Given the description of an element on the screen output the (x, y) to click on. 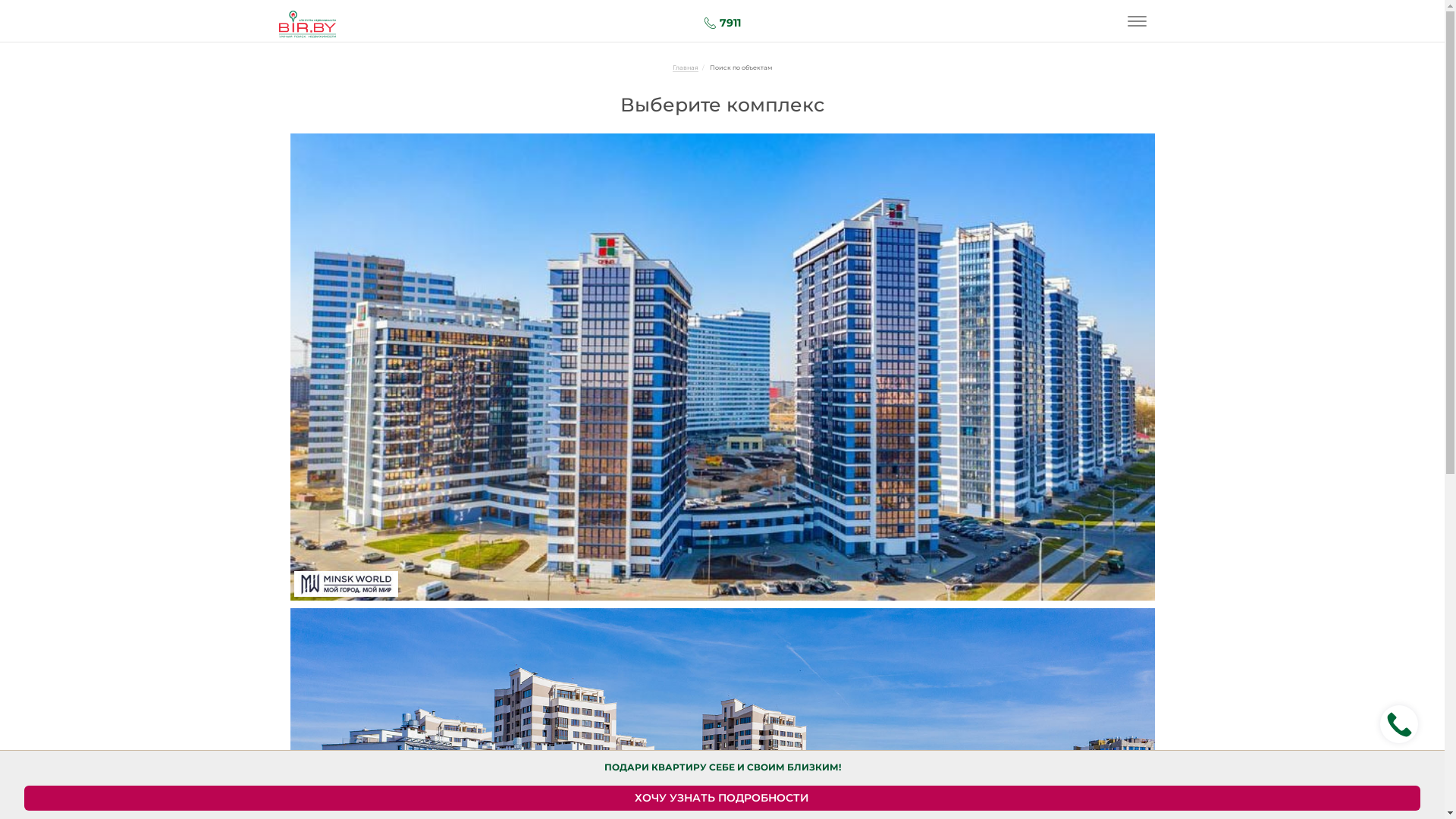
7911 Element type: text (721, 22)
Toggle navigation Element type: text (1136, 21)
